Given the description of an element on the screen output the (x, y) to click on. 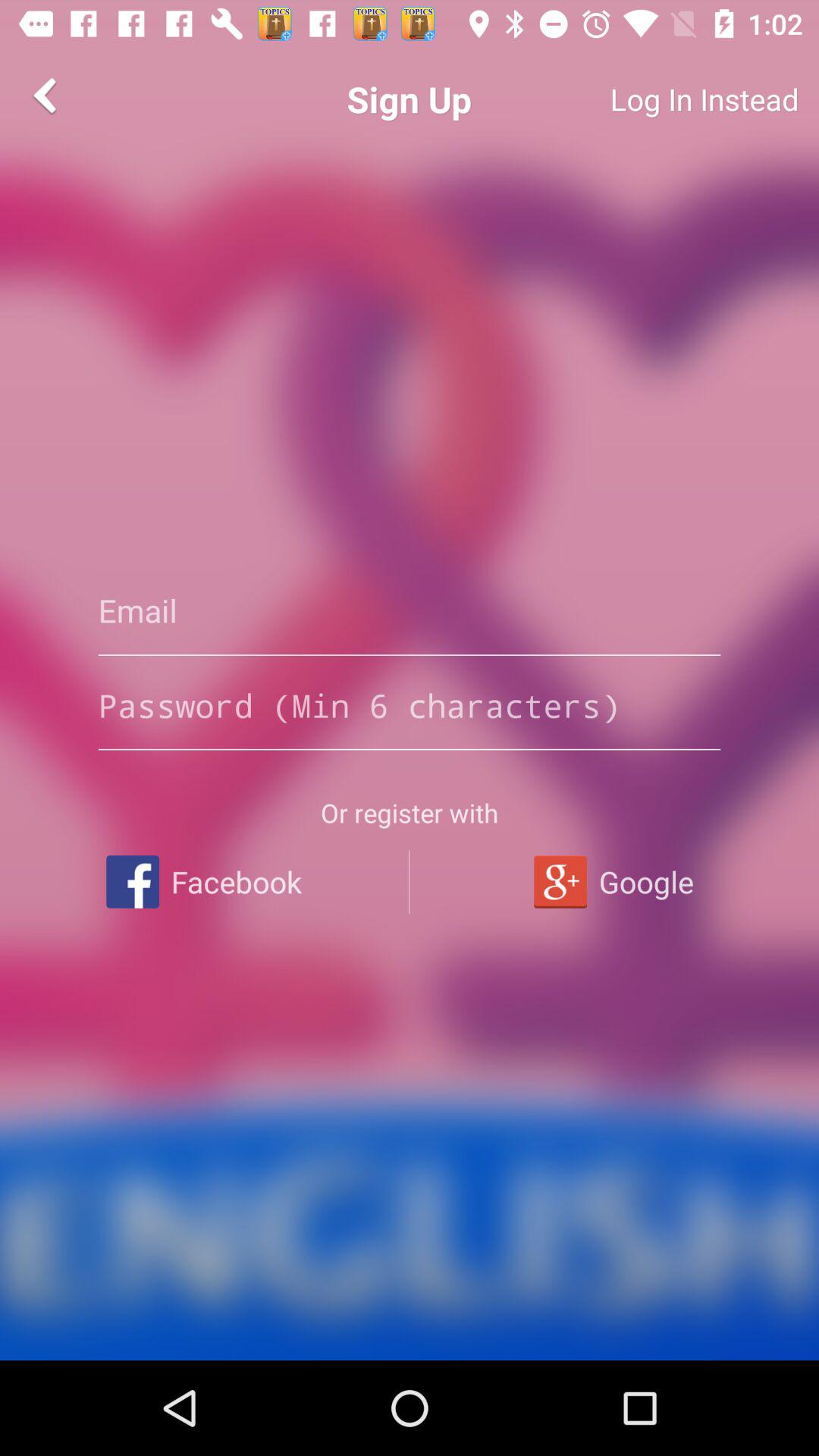
go back (47, 95)
